Given the description of an element on the screen output the (x, y) to click on. 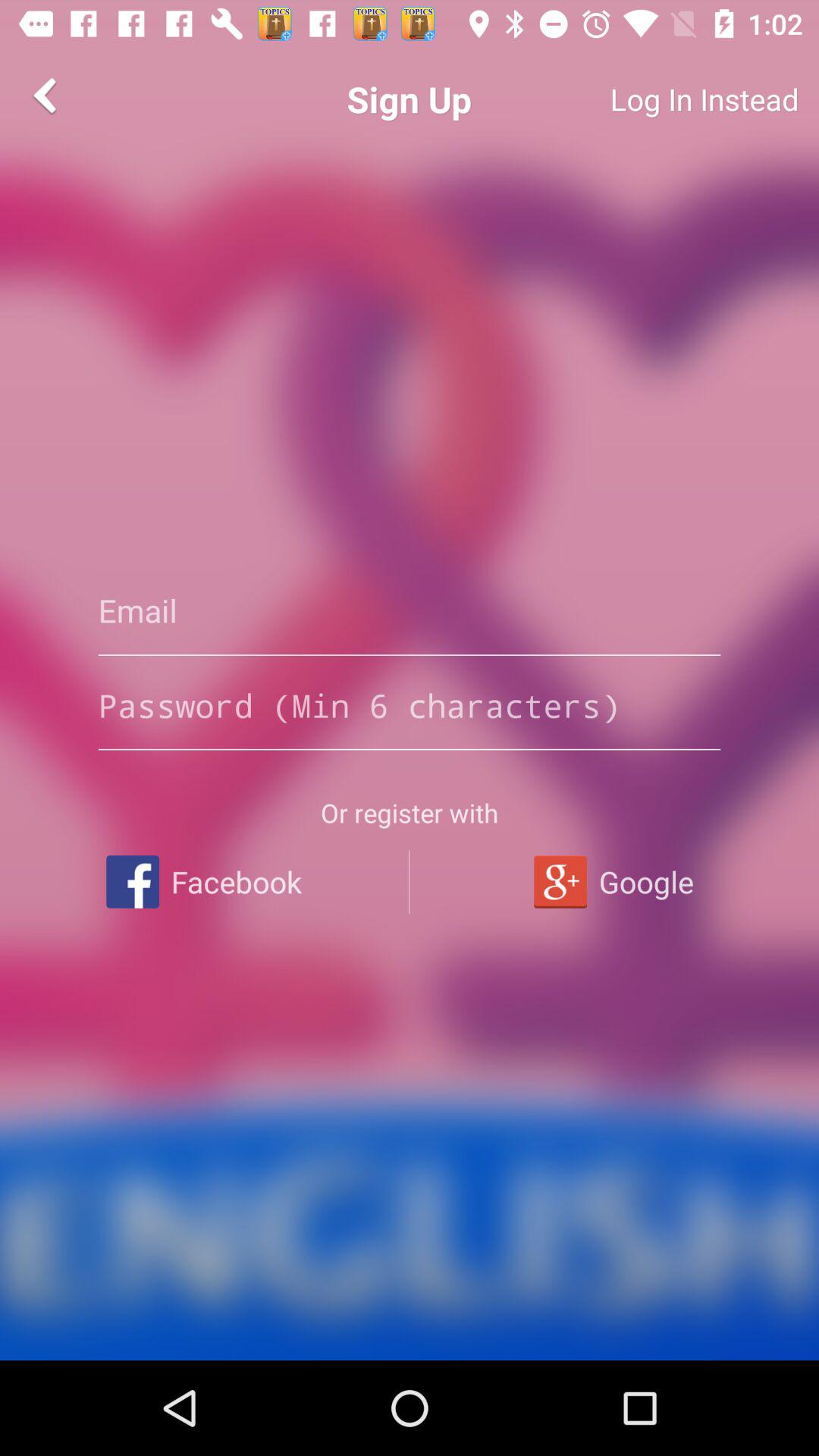
go back (47, 95)
